Given the description of an element on the screen output the (x, y) to click on. 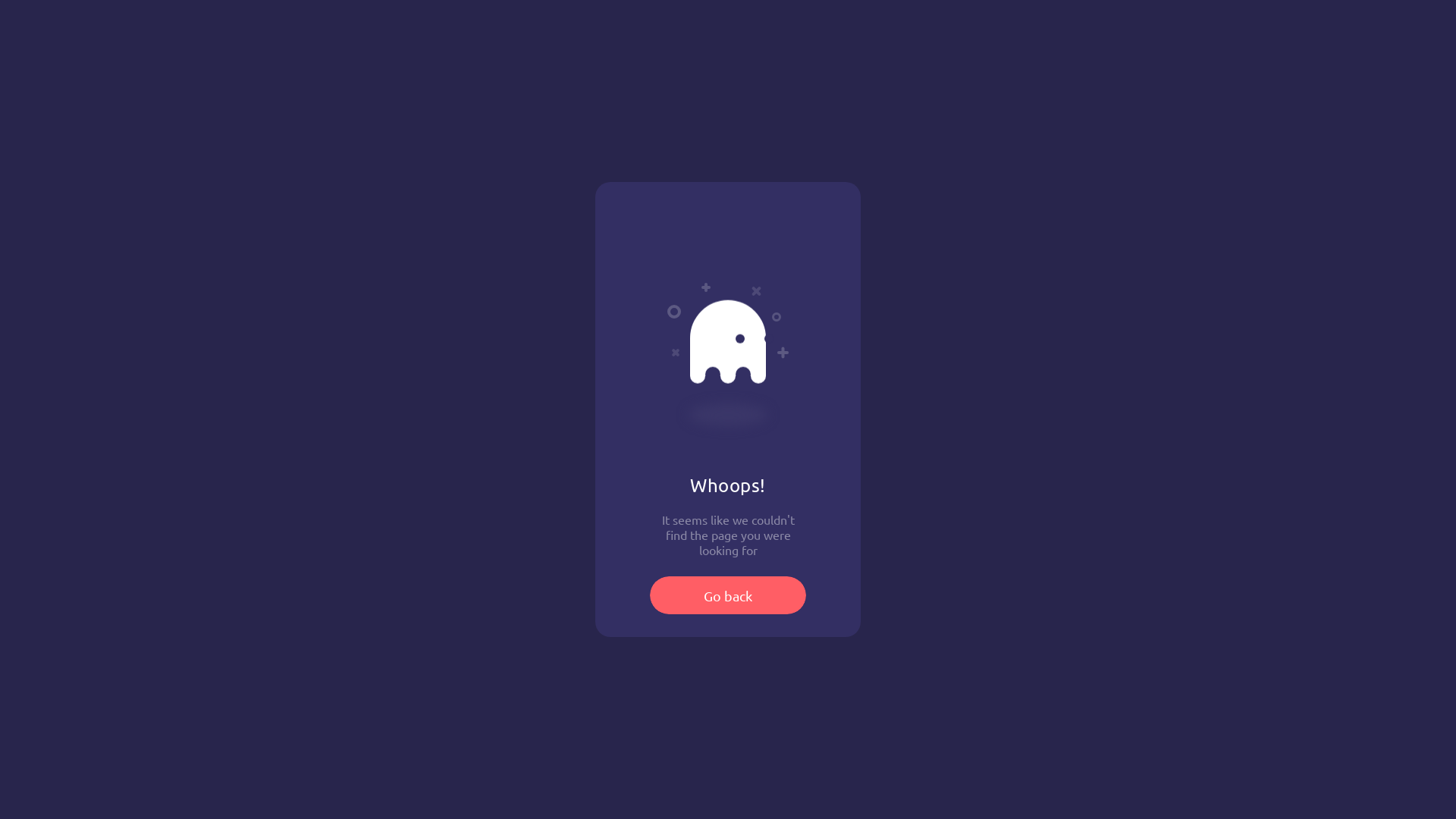
Go back Element type: text (727, 595)
